Given the description of an element on the screen output the (x, y) to click on. 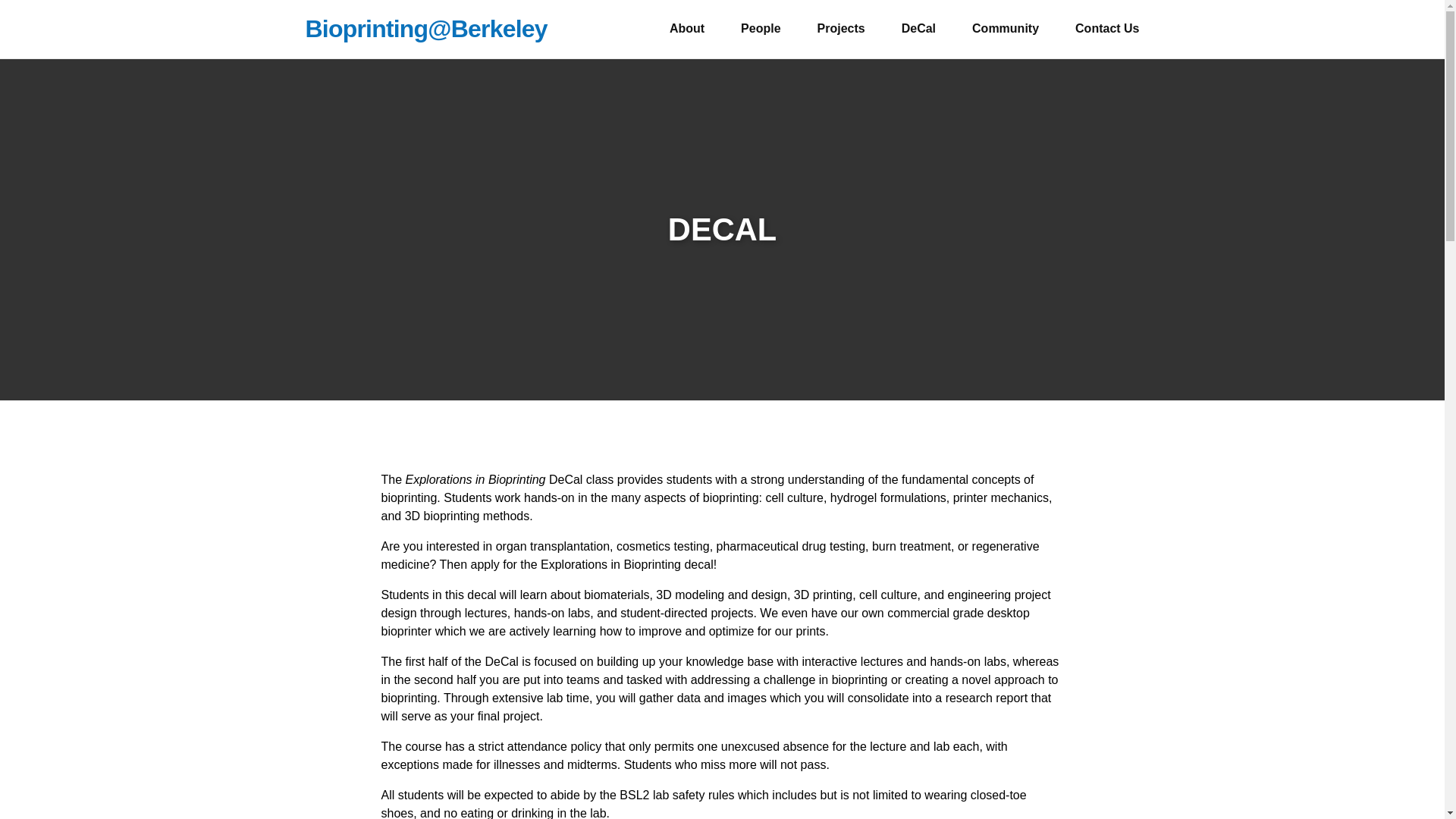
Community (1005, 28)
DeCal (918, 28)
Contact Us (1106, 28)
About (686, 28)
Projects (840, 28)
People (760, 28)
